Given the description of an element on the screen output the (x, y) to click on. 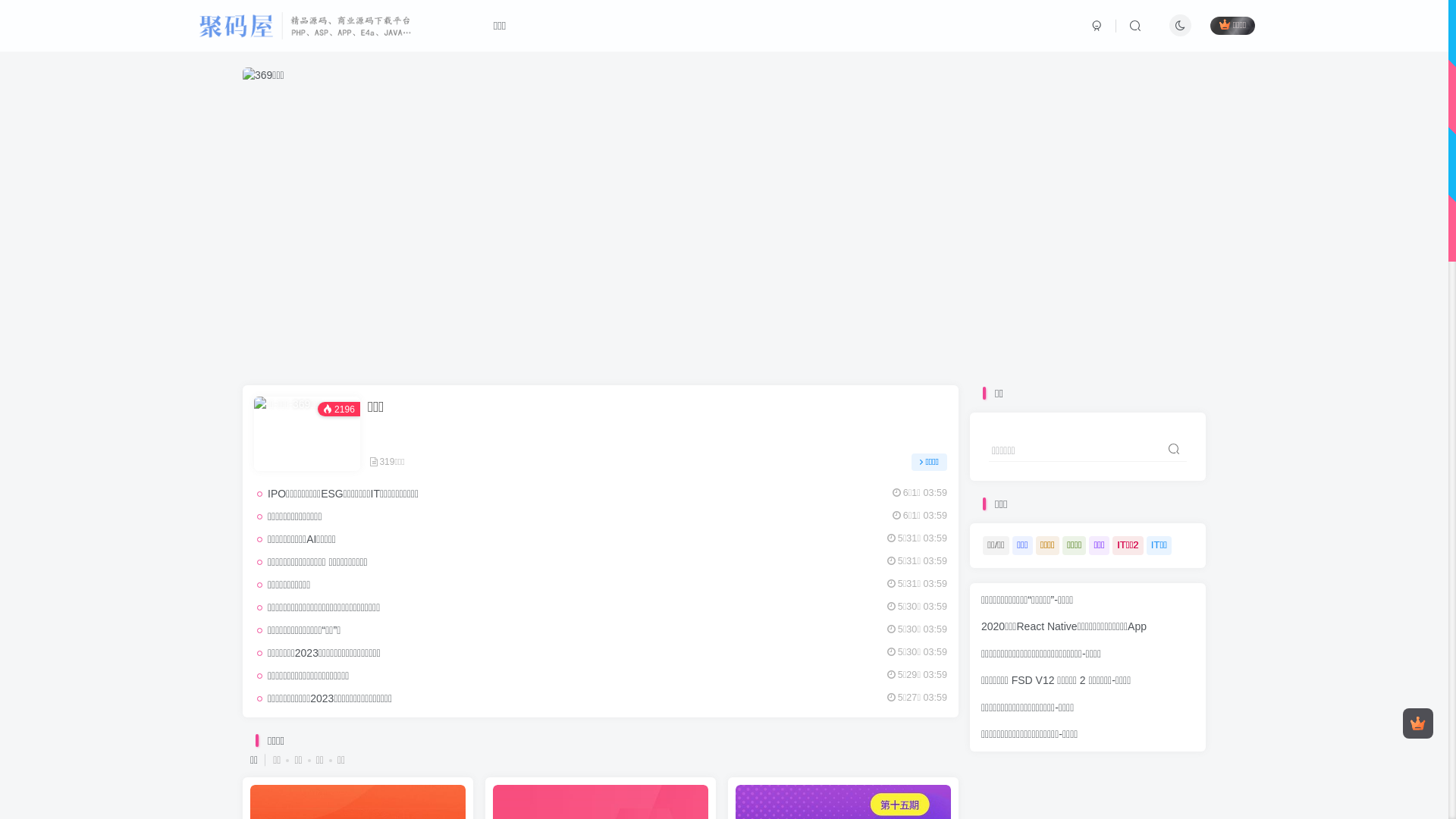
2196 Element type: text (307, 433)
